Given the description of an element on the screen output the (x, y) to click on. 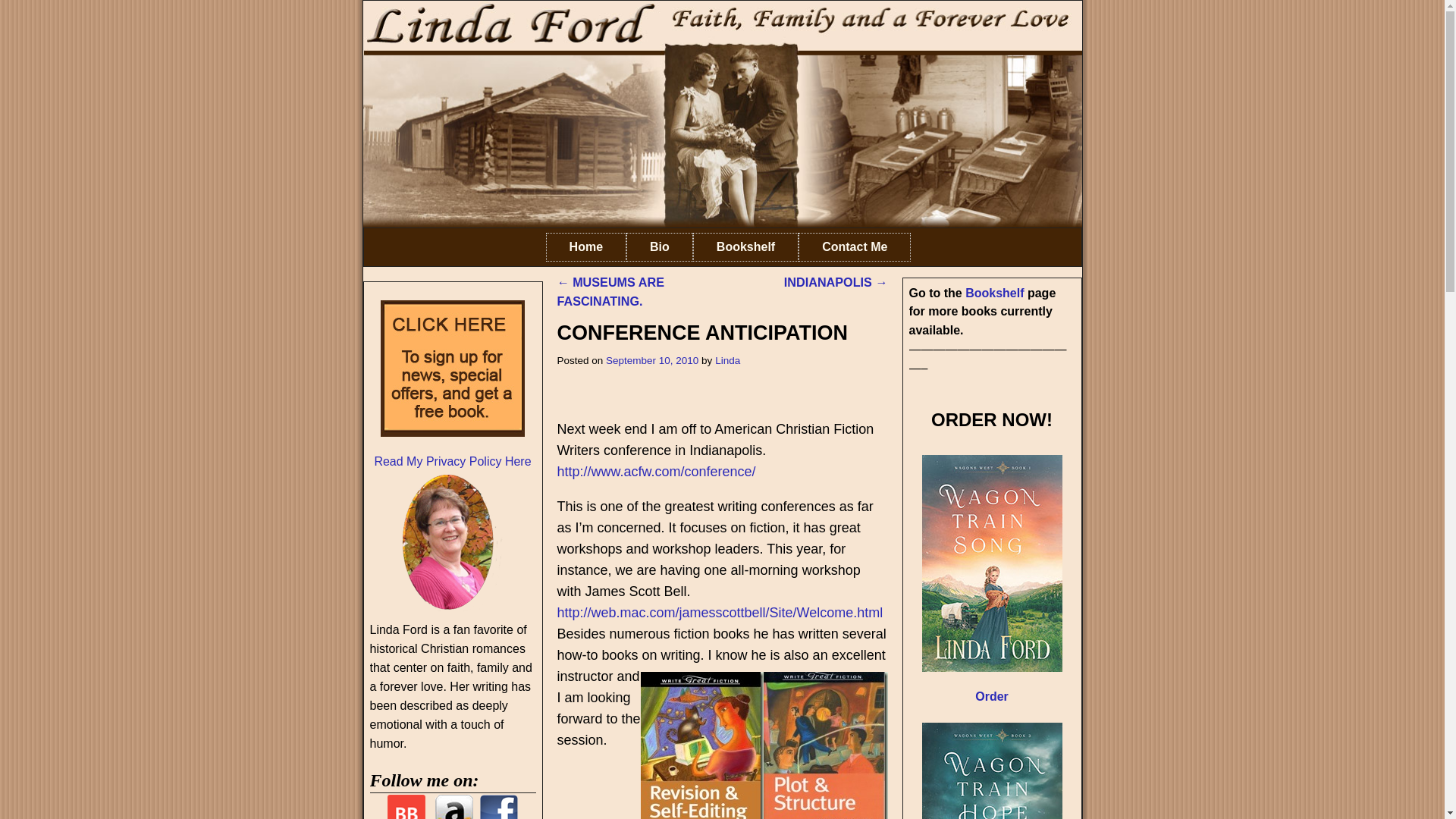
Home (586, 246)
Order (992, 696)
Contact Me (854, 246)
Read My Privacy Policy Here (452, 461)
Bookshelf (745, 246)
12:00 am (651, 360)
Linda (726, 360)
View all posts by Linda (726, 360)
Bookshelf (994, 292)
September 10, 2010 (651, 360)
